Given the description of an element on the screen output the (x, y) to click on. 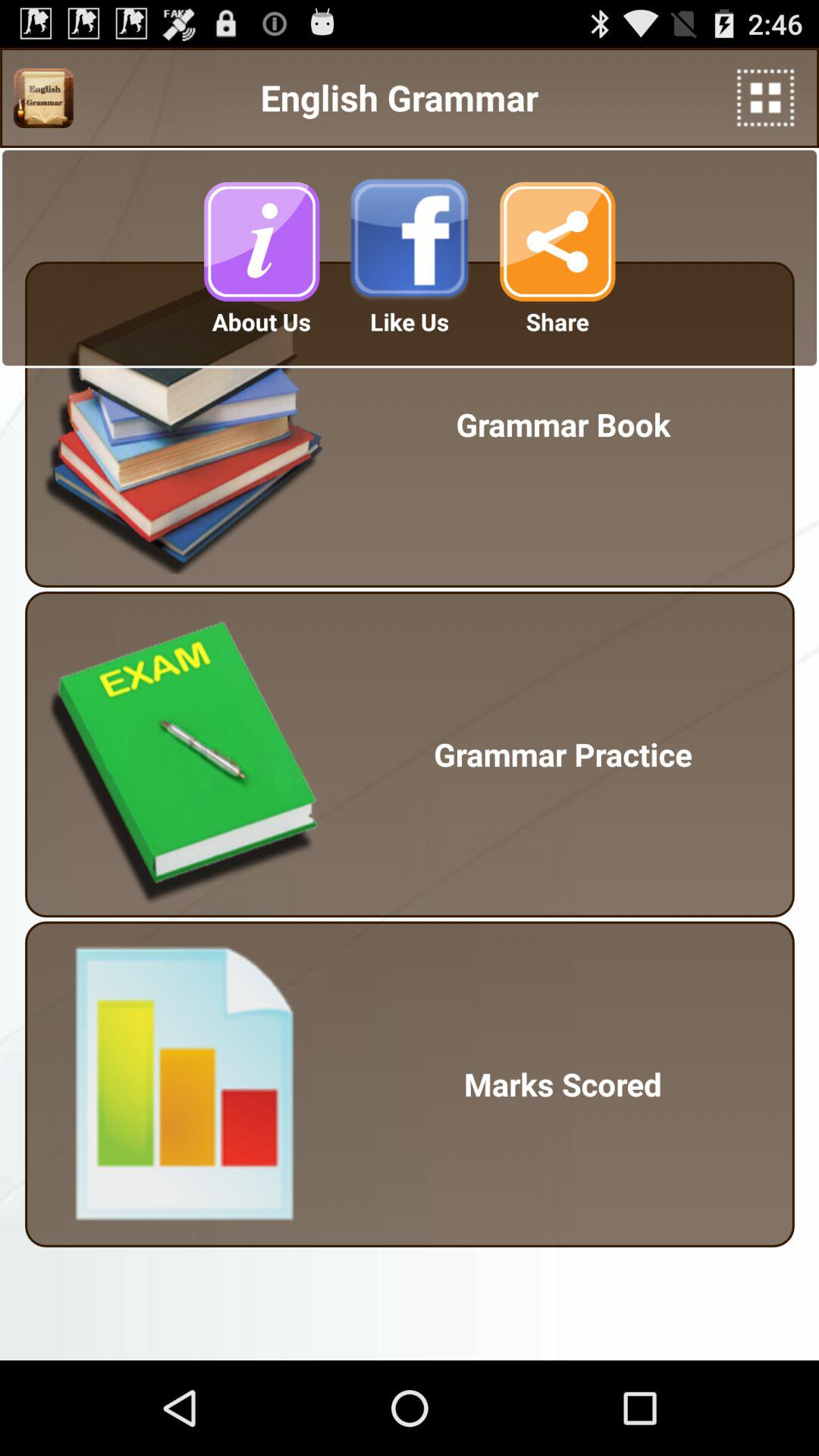
open icon below the english grammar app (409, 241)
